Given the description of an element on the screen output the (x, y) to click on. 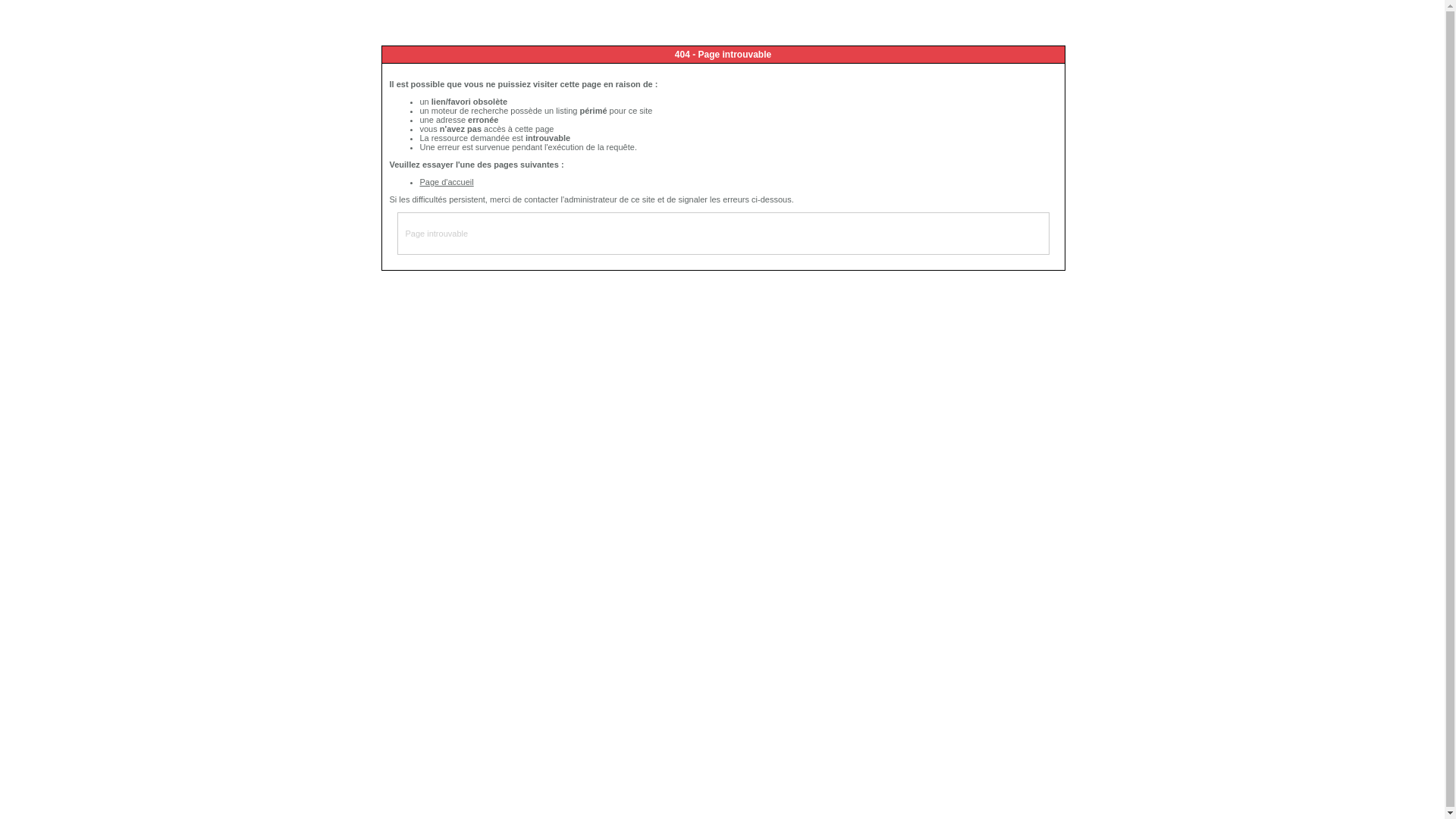
Page d'accueil Element type: text (446, 181)
